Given the description of an element on the screen output the (x, y) to click on. 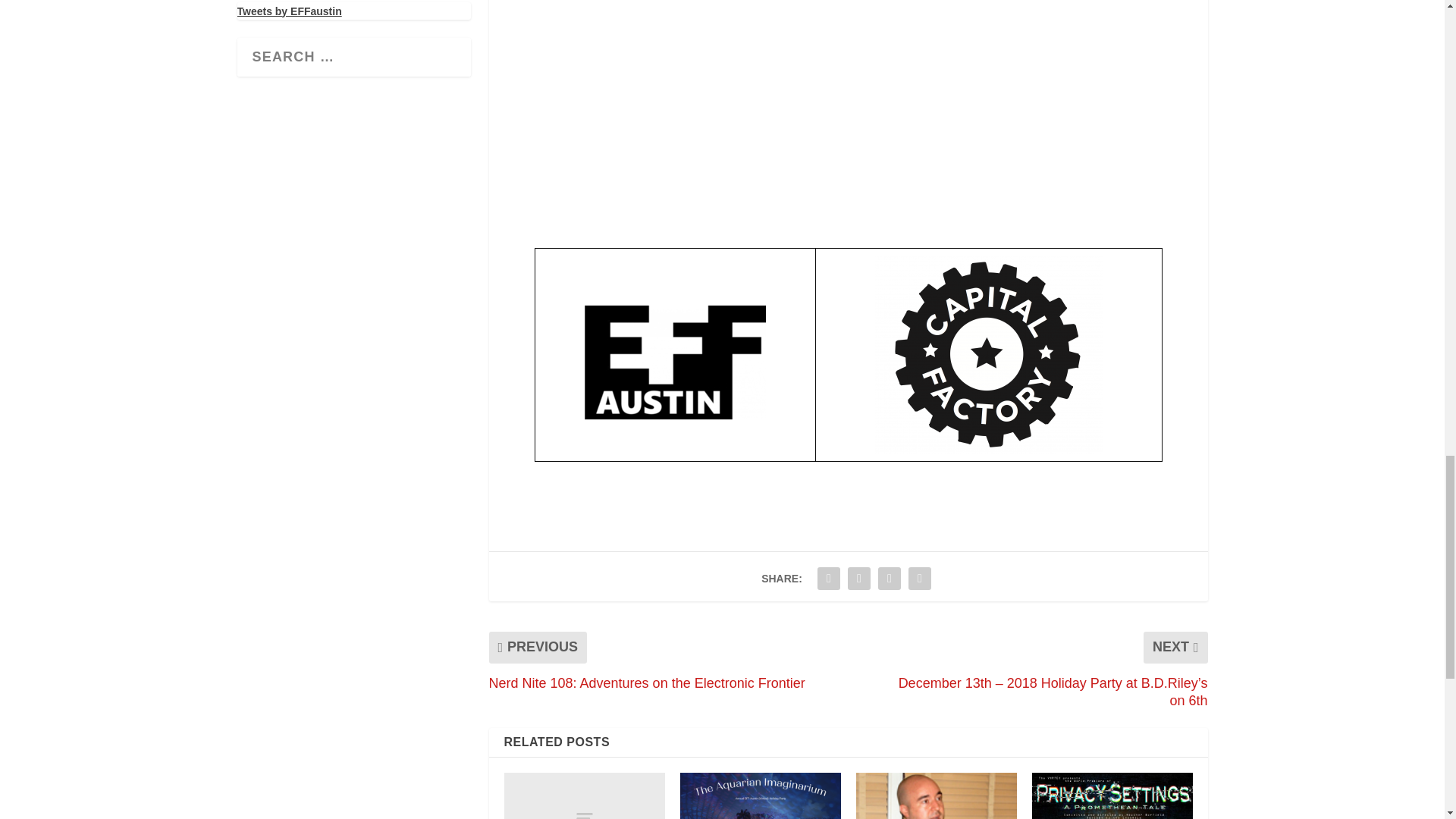
EFF-Austin Hosts A Performance Of The Play Privacy Settings! (1111, 796)
WhuffieFest: Cory Doctorow in Austin (583, 796)
